Given the description of an element on the screen output the (x, y) to click on. 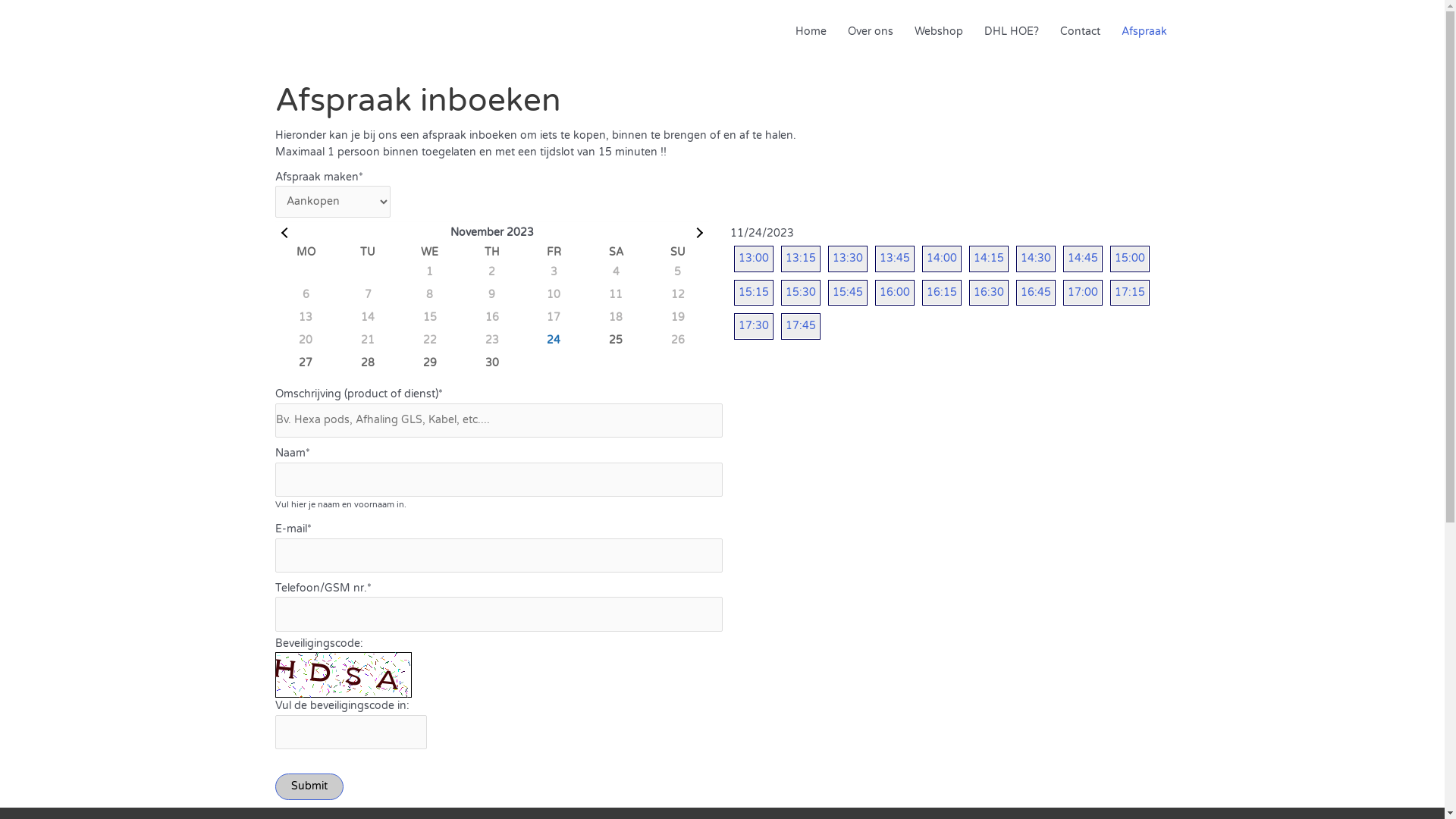
17:00 Element type: text (1082, 292)
13:45 Element type: text (894, 258)
Next Element type: text (695, 231)
15:00 Element type: text (1129, 258)
15:30 Element type: text (800, 292)
16:15 Element type: text (941, 292)
15:15 Element type: text (753, 292)
Home Element type: text (810, 31)
14:45 Element type: text (1082, 258)
15:45 Element type: text (847, 292)
Webshop Element type: text (938, 31)
17:15 Element type: text (1129, 292)
29 Element type: text (429, 362)
17:30 Element type: text (753, 325)
Contact Element type: text (1079, 31)
28 Element type: text (367, 362)
17:45 Element type: text (800, 325)
Submit Element type: text (308, 786)
DHL HOE? Element type: text (1011, 31)
16:45 Element type: text (1035, 292)
Over ons Element type: text (870, 31)
14:30 Element type: text (1035, 258)
16:00 Element type: text (894, 292)
25 Element type: text (615, 340)
27 Element type: text (305, 362)
24 Element type: text (554, 340)
14:00 Element type: text (941, 258)
16:30 Element type: text (988, 292)
13:30 Element type: text (847, 258)
13:00 Element type: text (753, 258)
Afspraak Element type: text (1143, 31)
14:15 Element type: text (988, 258)
13:15 Element type: text (800, 258)
Prev Element type: text (284, 231)
30 Element type: text (492, 362)
